Given the description of an element on the screen output the (x, y) to click on. 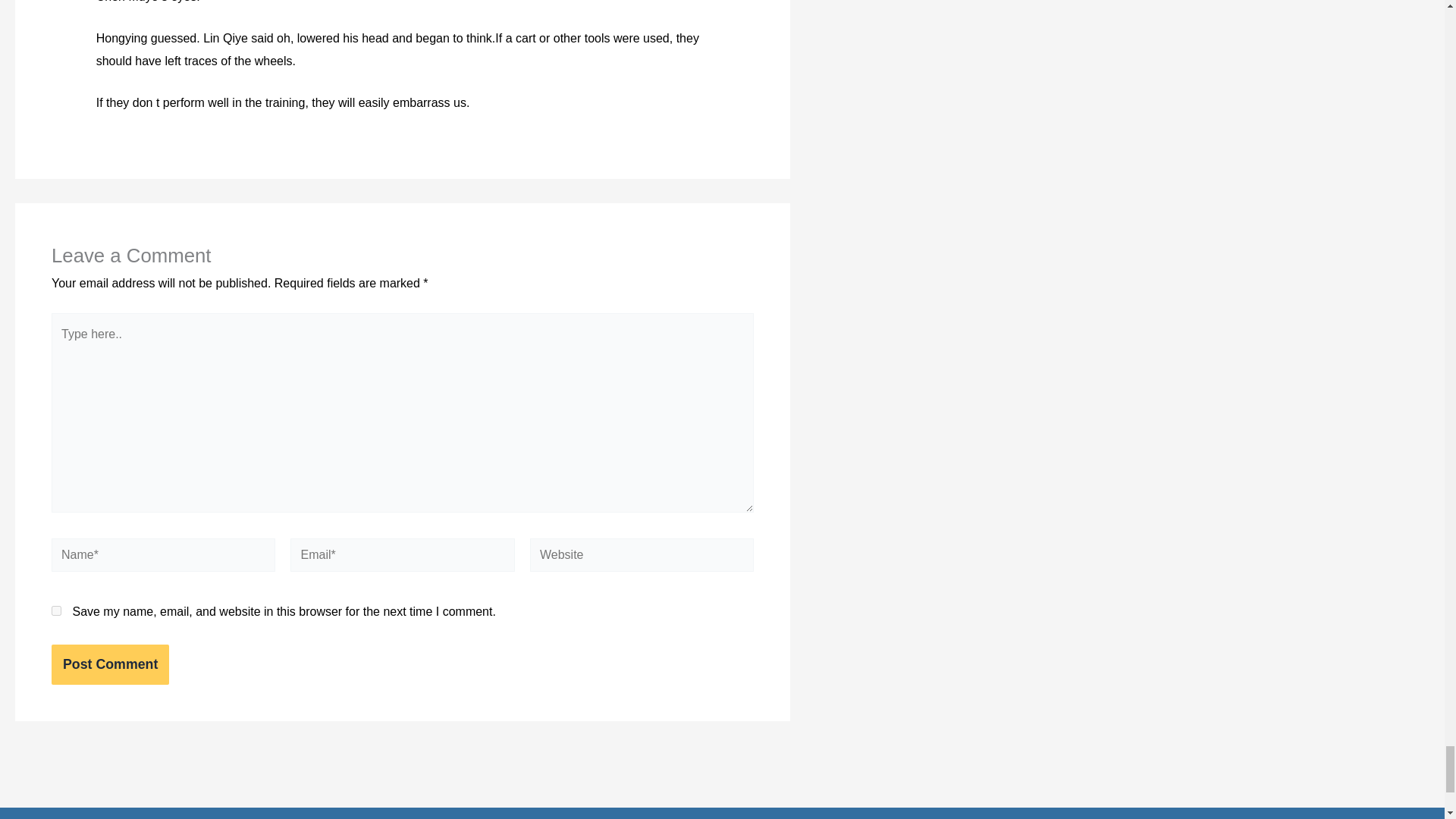
yes (55, 610)
Post Comment (109, 664)
